Given the description of an element on the screen output the (x, y) to click on. 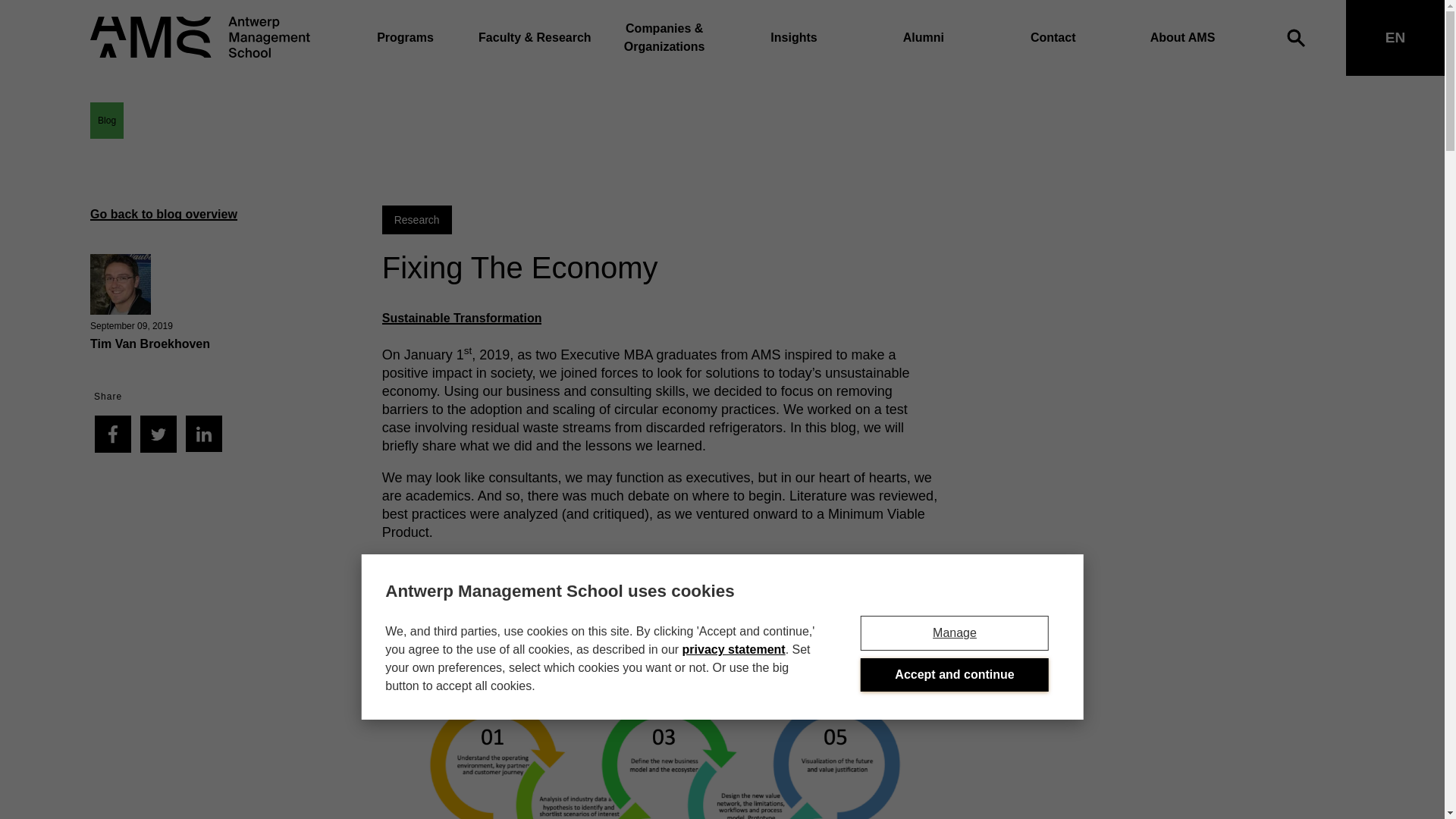
Alumni (923, 38)
Manage (954, 632)
Insights (794, 38)
About AMS (1182, 38)
cookie statement (734, 649)
Programs (405, 38)
Accept and continue (954, 674)
Programs (405, 38)
privacy statement (734, 649)
Contact (1053, 38)
